Given the description of an element on the screen output the (x, y) to click on. 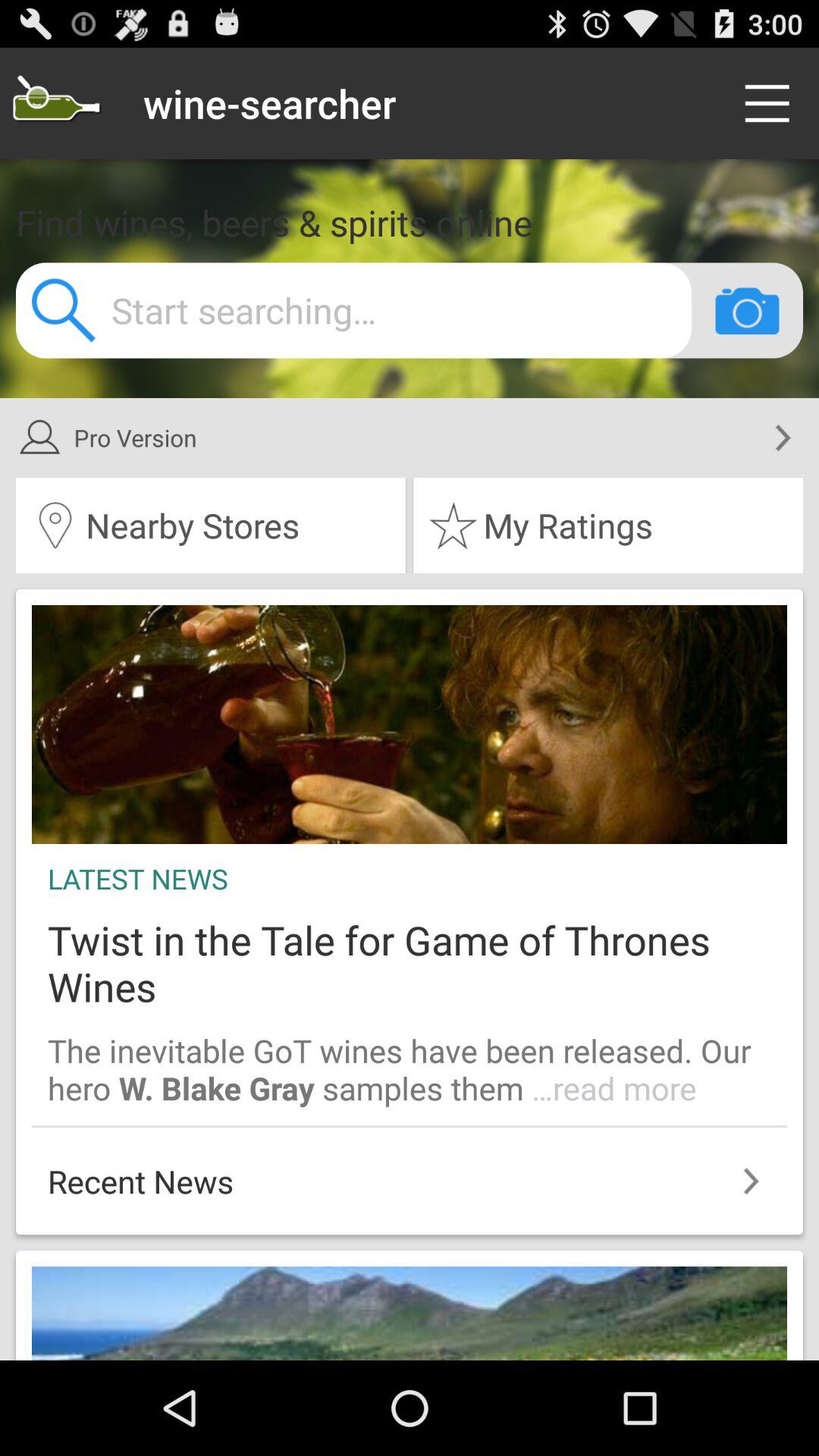
swipe to recent news item (409, 1172)
